Given the description of an element on the screen output the (x, y) to click on. 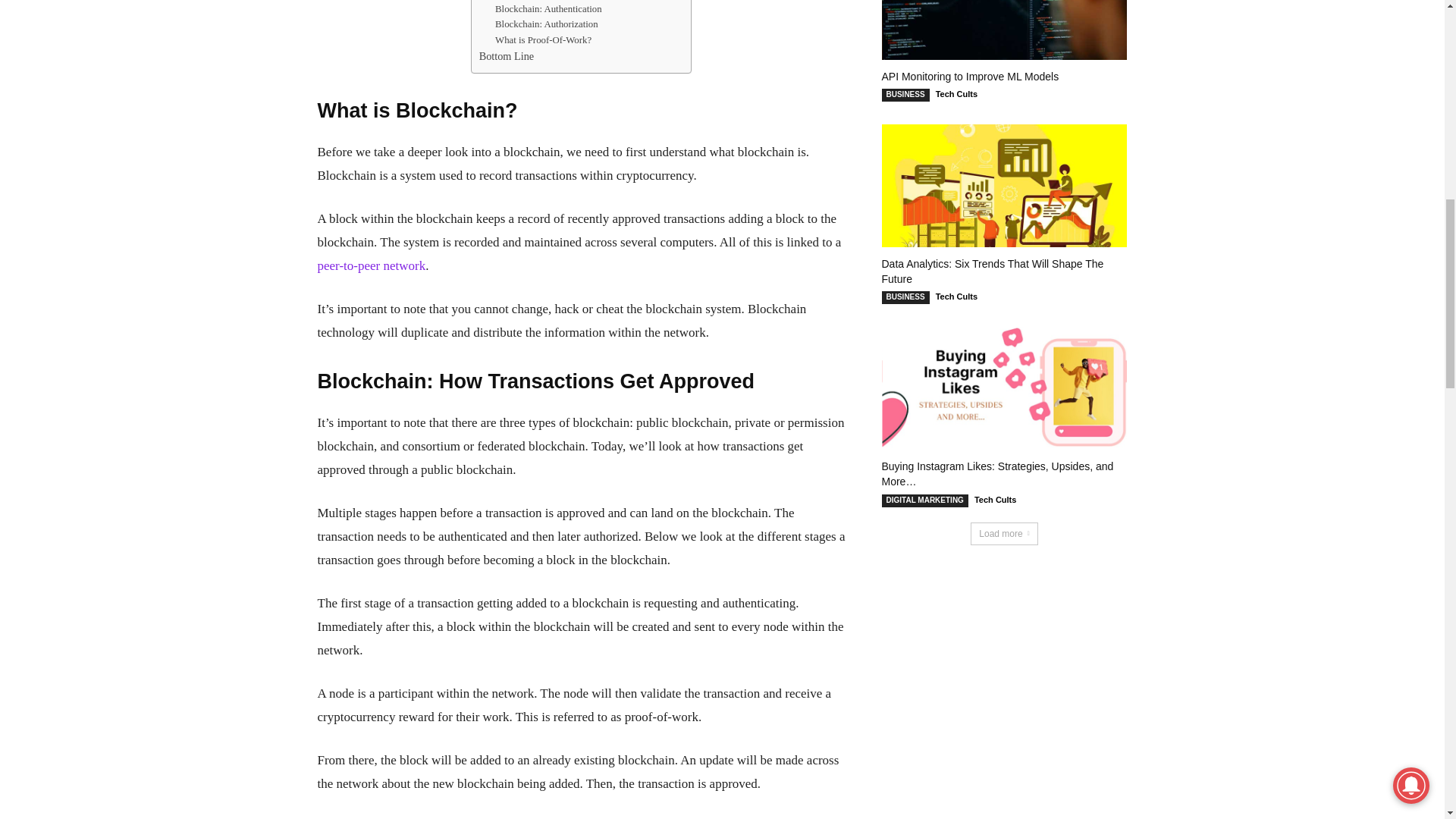
Blockchain: Authorization (546, 24)
Blockchain: Authentication (548, 9)
